Given the description of an element on the screen output the (x, y) to click on. 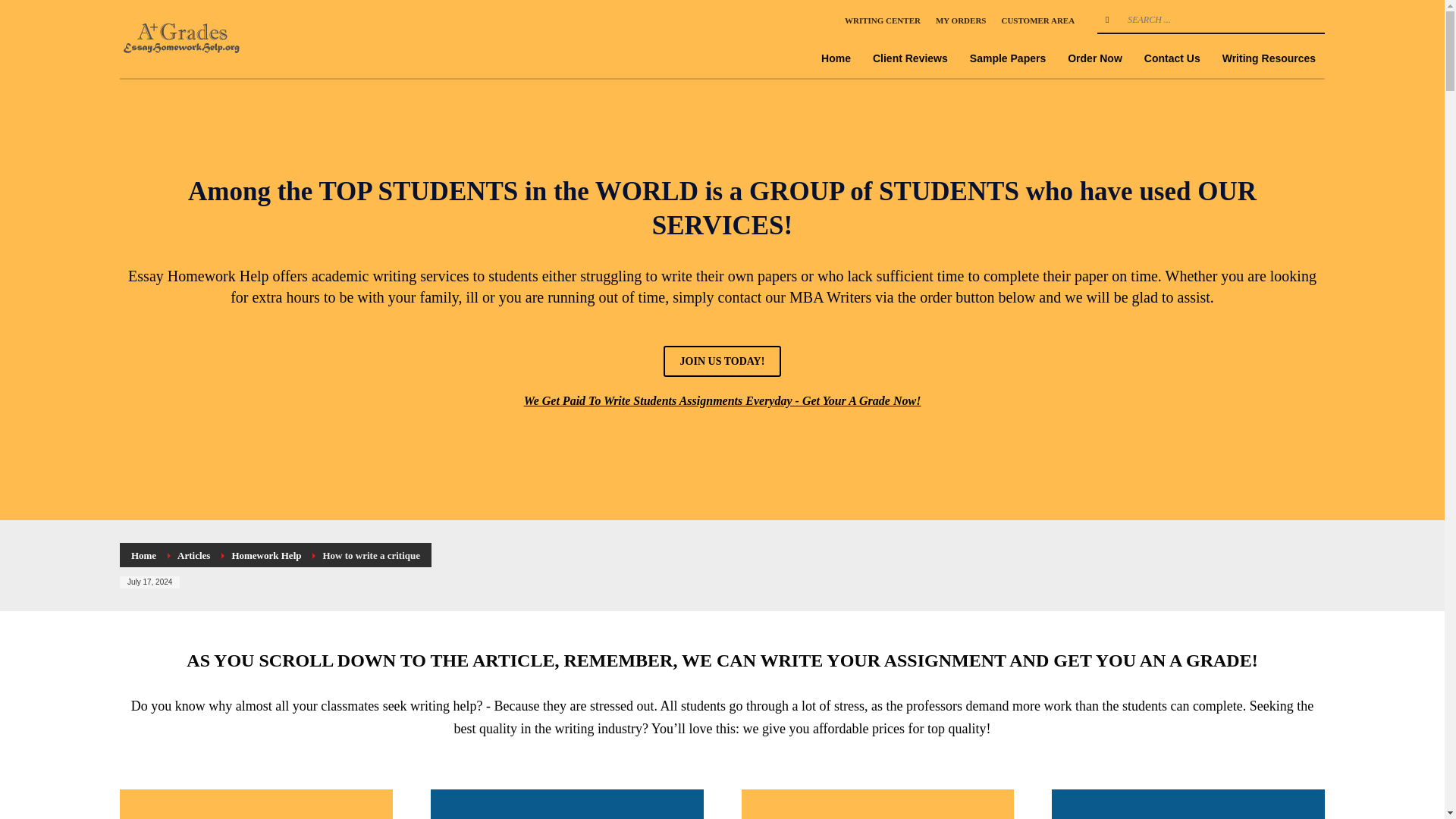
Home (143, 555)
Homework Help (183, 37)
Home (836, 57)
Articles (193, 555)
CUSTOMER AREA (1037, 20)
Client Reviews (909, 57)
MY ORDERS (961, 20)
Sample Papers (1007, 57)
go (1107, 19)
JOIN US TODAY! (722, 360)
Homework Help (266, 555)
WRITING CENTER (882, 20)
Contact Us (1172, 57)
Articles (193, 555)
Writing Resources (1268, 57)
